Given the description of an element on the screen output the (x, y) to click on. 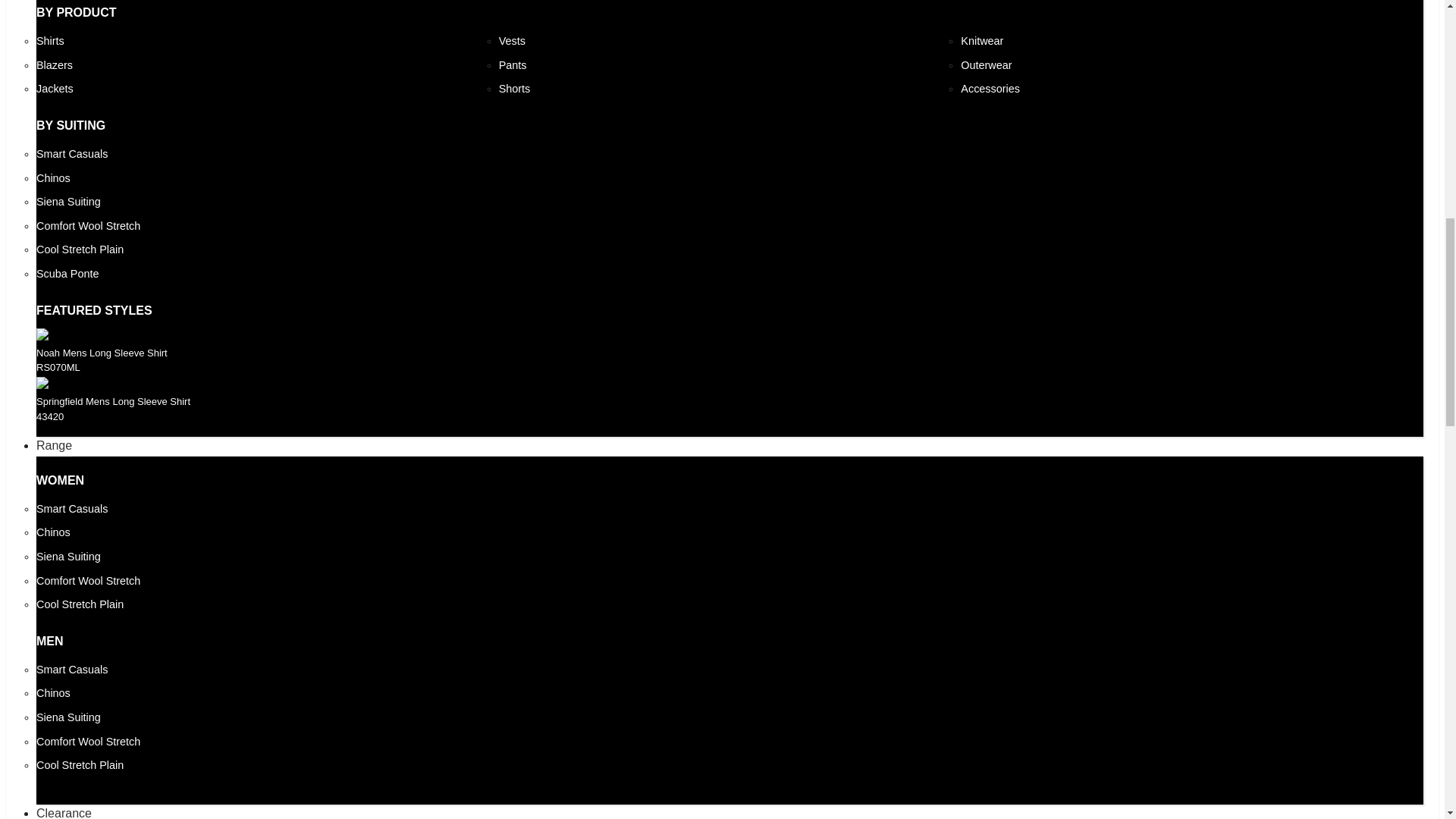
Jackets (55, 88)
Blazers (54, 65)
Shirts (50, 41)
